Given the description of an element on the screen output the (x, y) to click on. 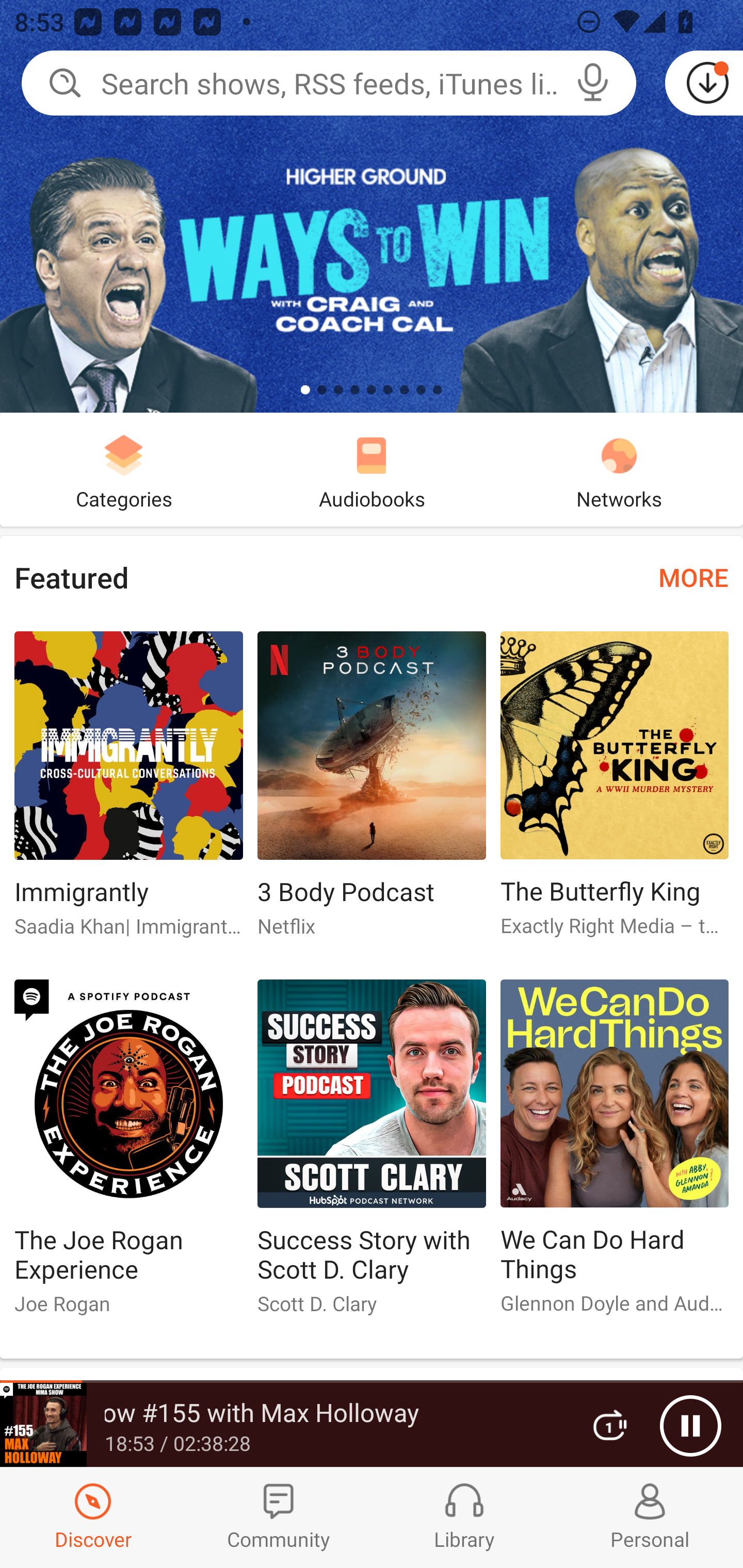
Ways To Win (371, 206)
Categories (123, 469)
Audiobooks (371, 469)
Networks (619, 469)
MORE (693, 576)
3 Body Podcast 3 Body Podcast Netflix (371, 792)
Pause (690, 1425)
Discover (92, 1517)
Community (278, 1517)
Library (464, 1517)
Profiles and Settings Personal (650, 1517)
